Given the description of an element on the screen output the (x, y) to click on. 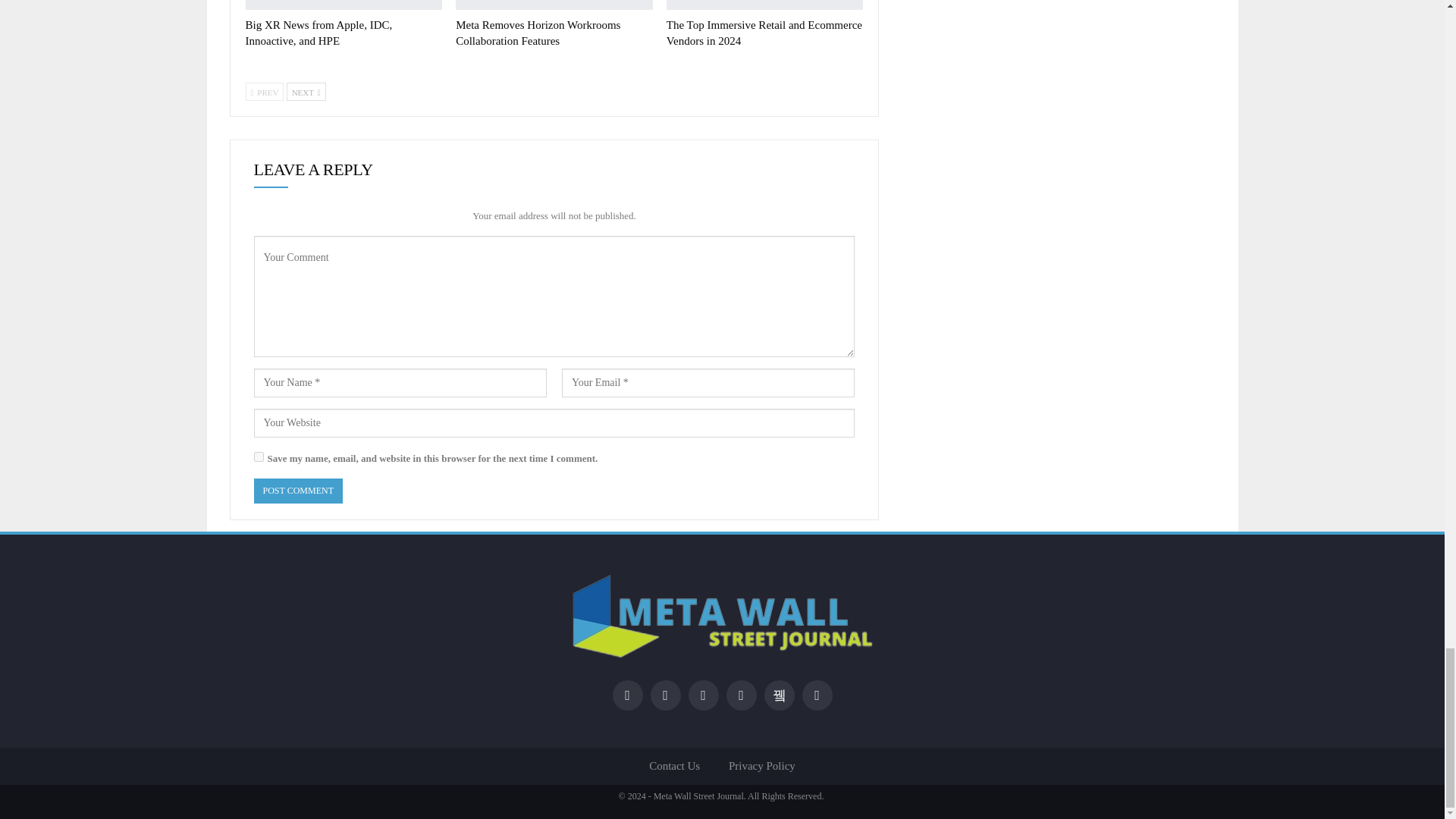
Big XR News from Apple, IDC, Innoactive, and HPE (319, 32)
Meta Removes Horizon Workrooms Collaboration Features (537, 32)
The Top Immersive Retail and Ecommerce Vendors in 2024 (763, 32)
Meta Removes Horizon Workrooms Collaboration Features (553, 4)
Big XR News from Apple, IDC, Innoactive, and HPE (344, 4)
yes (258, 456)
Post Comment (297, 490)
The Top Immersive Retail and Ecommerce Vendors in 2024 (764, 4)
